Given the description of an element on the screen output the (x, y) to click on. 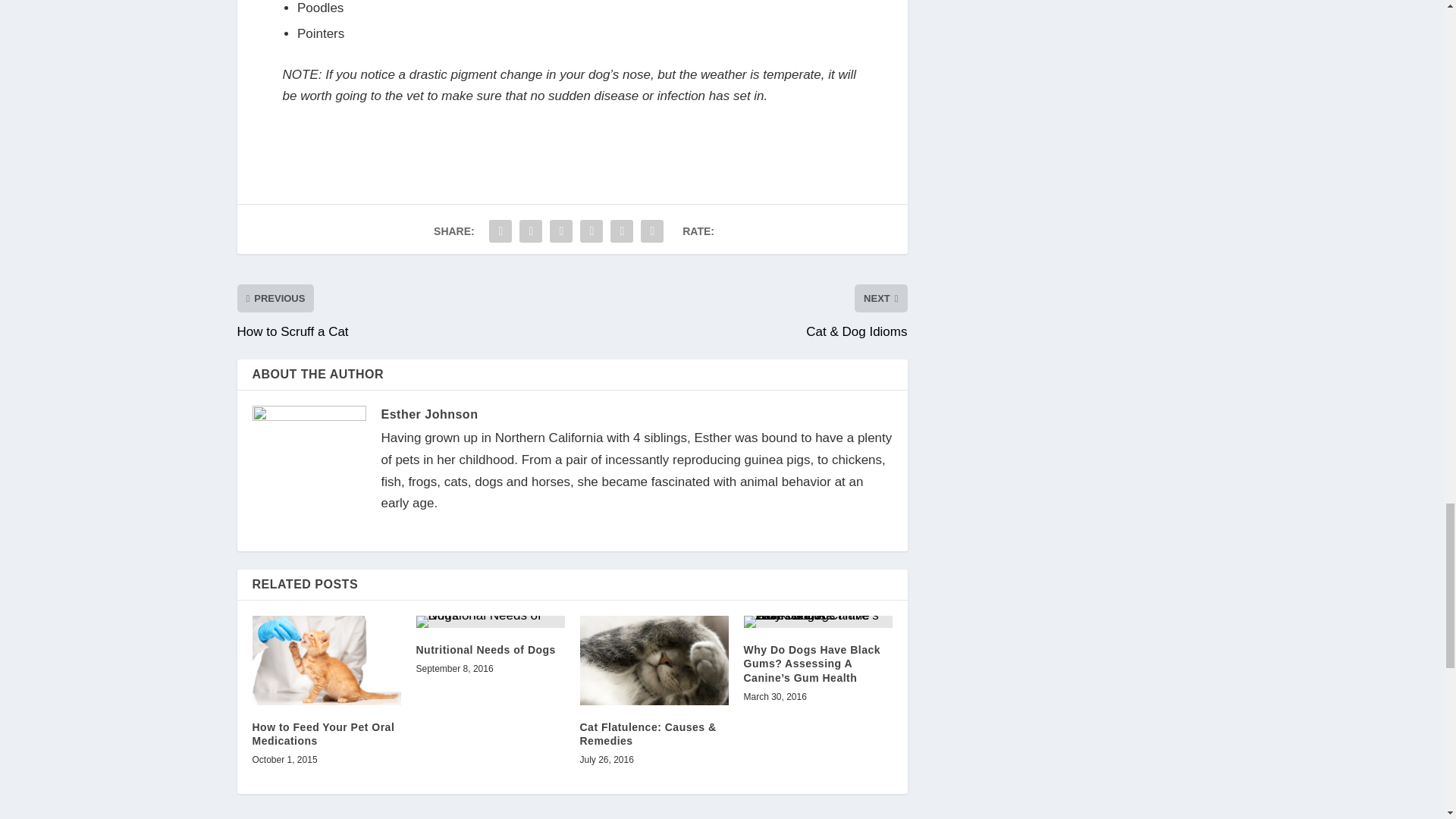
Share "Why Do Dog Noses Change Colors?" via LinkedIn (591, 231)
Nutritional Needs of Dogs (484, 649)
Share "Why Do Dog Noses Change Colors?" via Facebook (499, 231)
View all posts by Esther Johnson (428, 413)
Esther Johnson (428, 413)
Nutritional Needs of Dogs (489, 621)
How to Feed Your Pet Oral Medications (325, 660)
Share "Why Do Dog Noses Change Colors?" via Pinterest (561, 231)
Share "Why Do Dog Noses Change Colors?" via Email (622, 231)
Share "Why Do Dog Noses Change Colors?" via Twitter (530, 231)
